Given the description of an element on the screen output the (x, y) to click on. 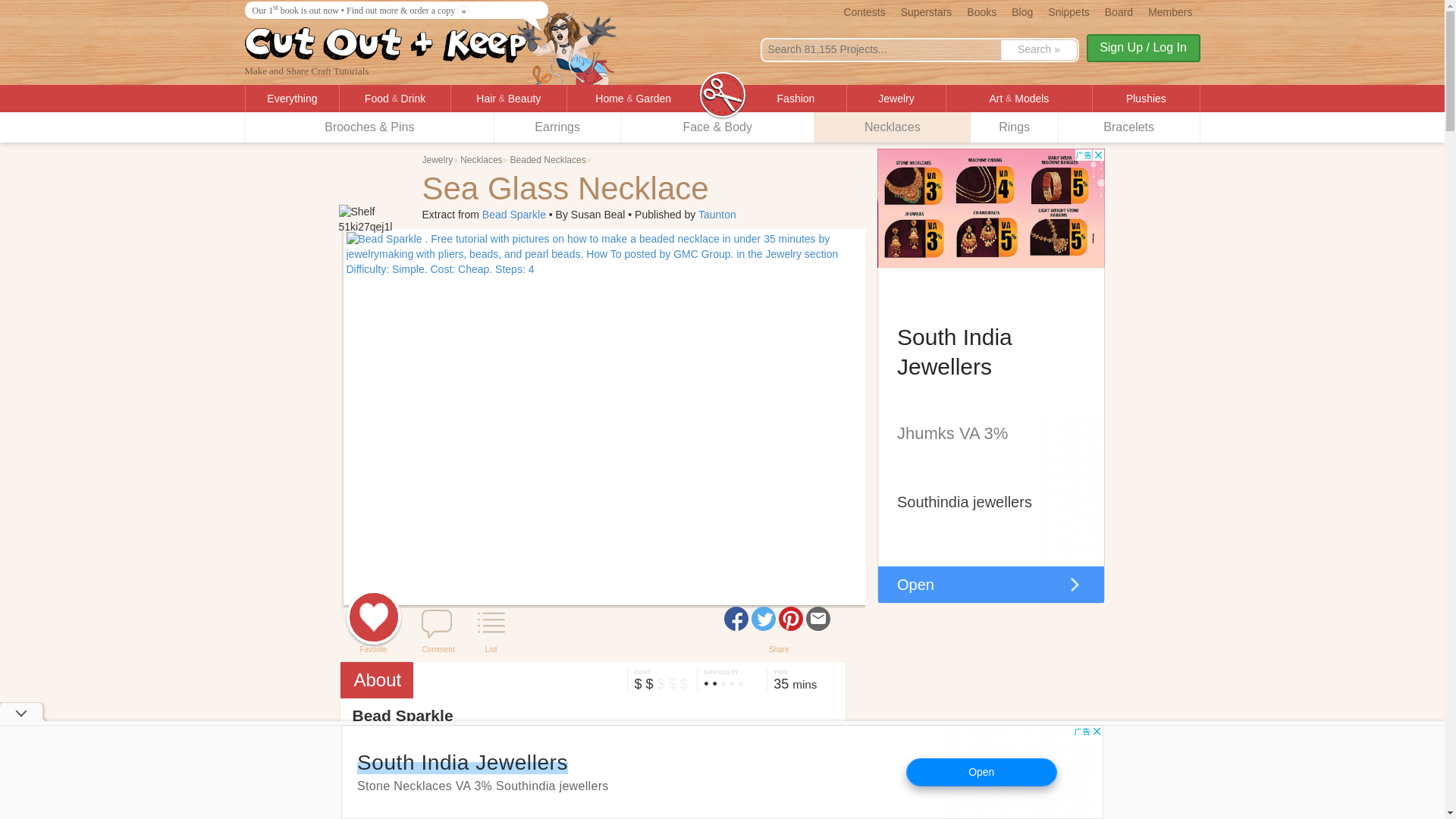
Contests (863, 10)
Earrings (558, 127)
Rings (1014, 127)
Share this project on Facebook (735, 618)
Share this project on Pinterest (790, 618)
Necklaces (892, 127)
Board (1118, 10)
Everything (292, 98)
Add this project to a list (491, 624)
Leave a comment (436, 624)
Share this project on Twitter (763, 618)
Superstars (926, 10)
Bracelets (1128, 127)
Snippets (1068, 10)
Blog (1022, 10)
